Given the description of an element on the screen output the (x, y) to click on. 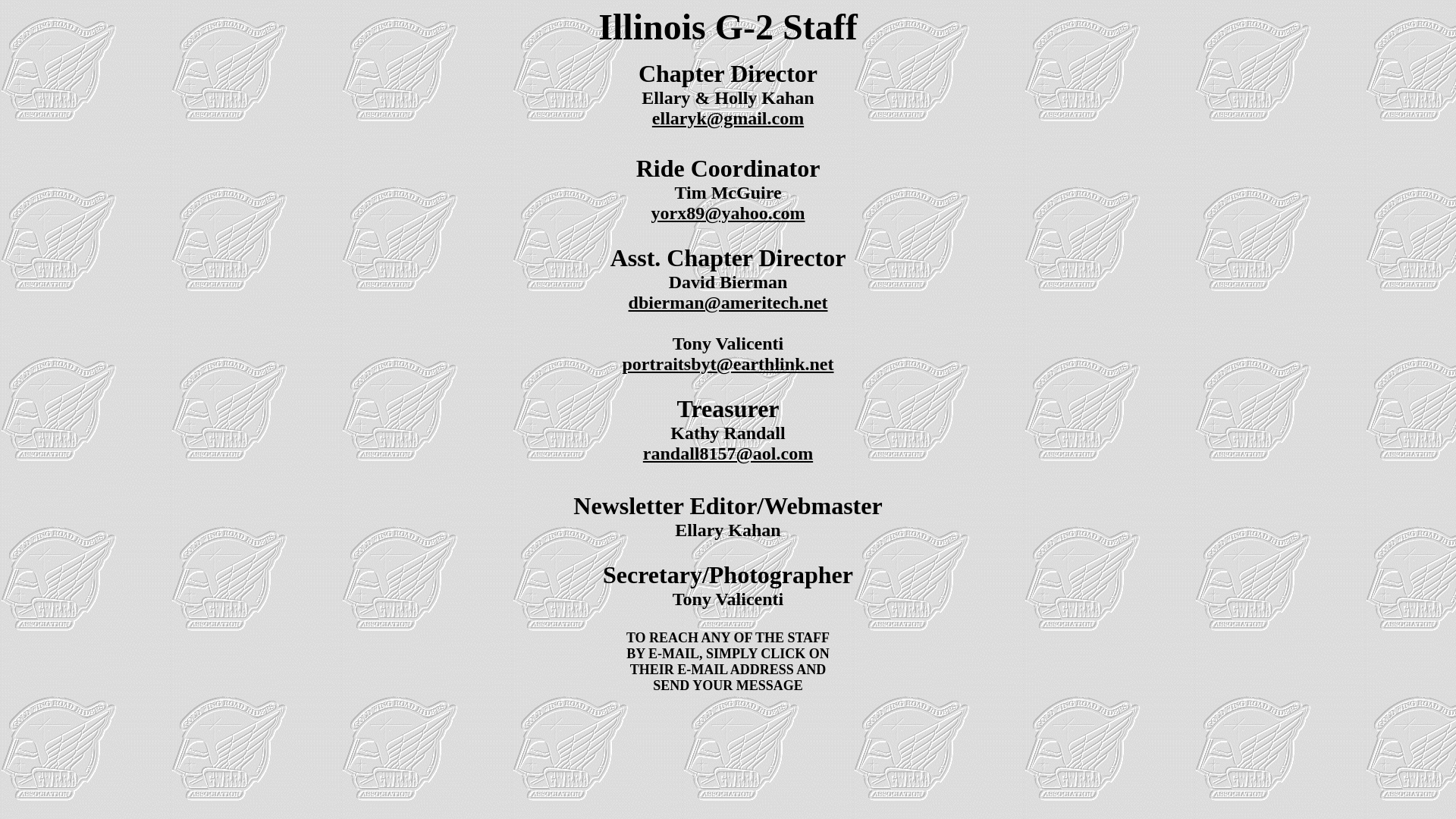
randall8157@aol.com Element type: text (727, 453)
ellaryk@gmail.com Element type: text (727, 118)
yorx89@yahoo.com Element type: text (728, 212)
dbierman@ameritech.net Element type: text (728, 302)
portraitsbyt@earthlink.net Element type: text (727, 363)
